Given the description of an element on the screen output the (x, y) to click on. 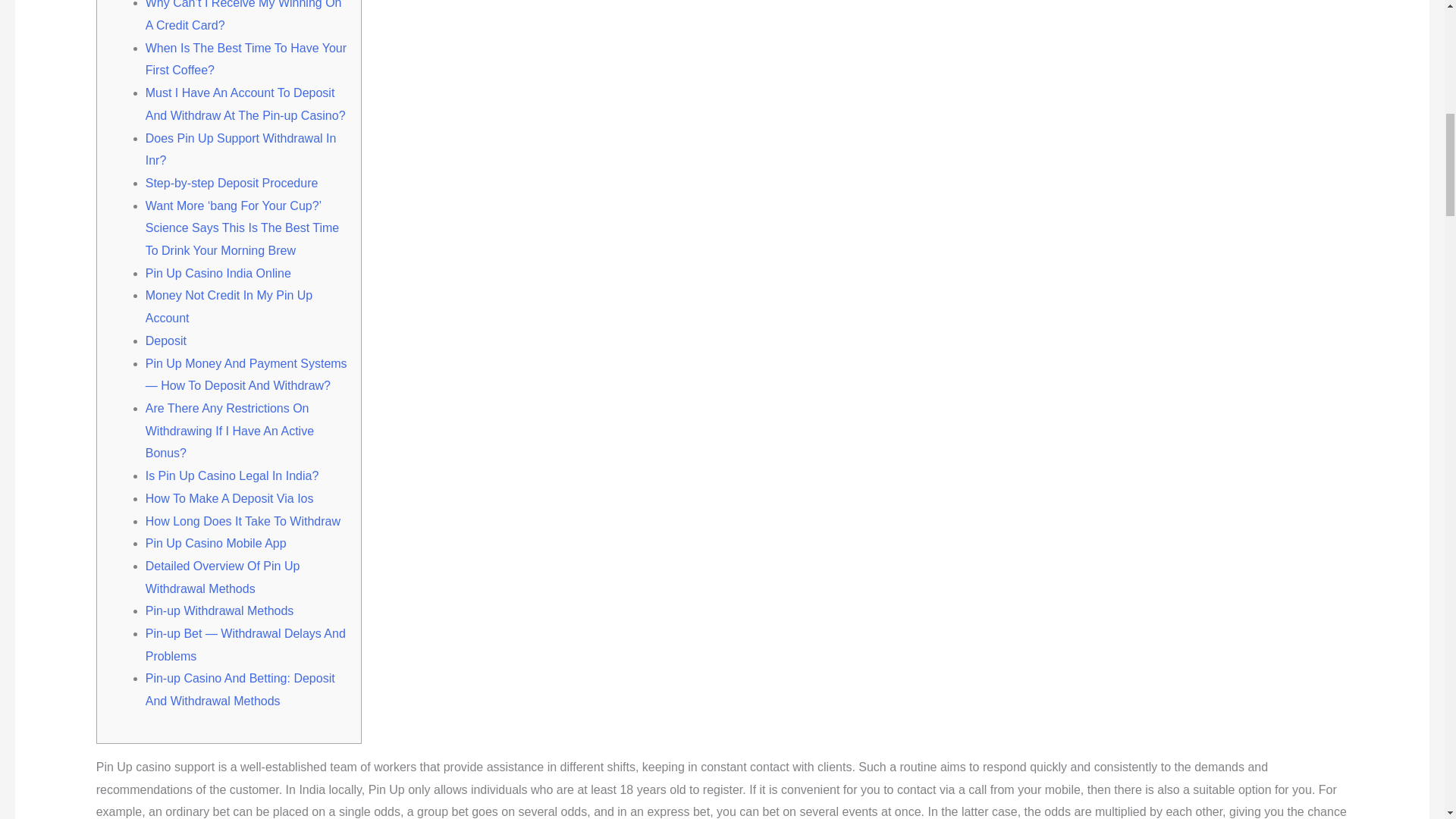
Money Not Credit In My Pin Up Account (229, 306)
Pin Up Casino India Online (218, 273)
Step-by-step Deposit Procedure (231, 182)
Is Pin Up Casino Legal In India? (231, 475)
When Is The Best Time To Have Your First Coffee? (245, 58)
Deposit (165, 340)
How To Make A Deposit Via Ios (229, 498)
Does Pin Up Support Withdrawal In Inr? (240, 149)
